Given the description of an element on the screen output the (x, y) to click on. 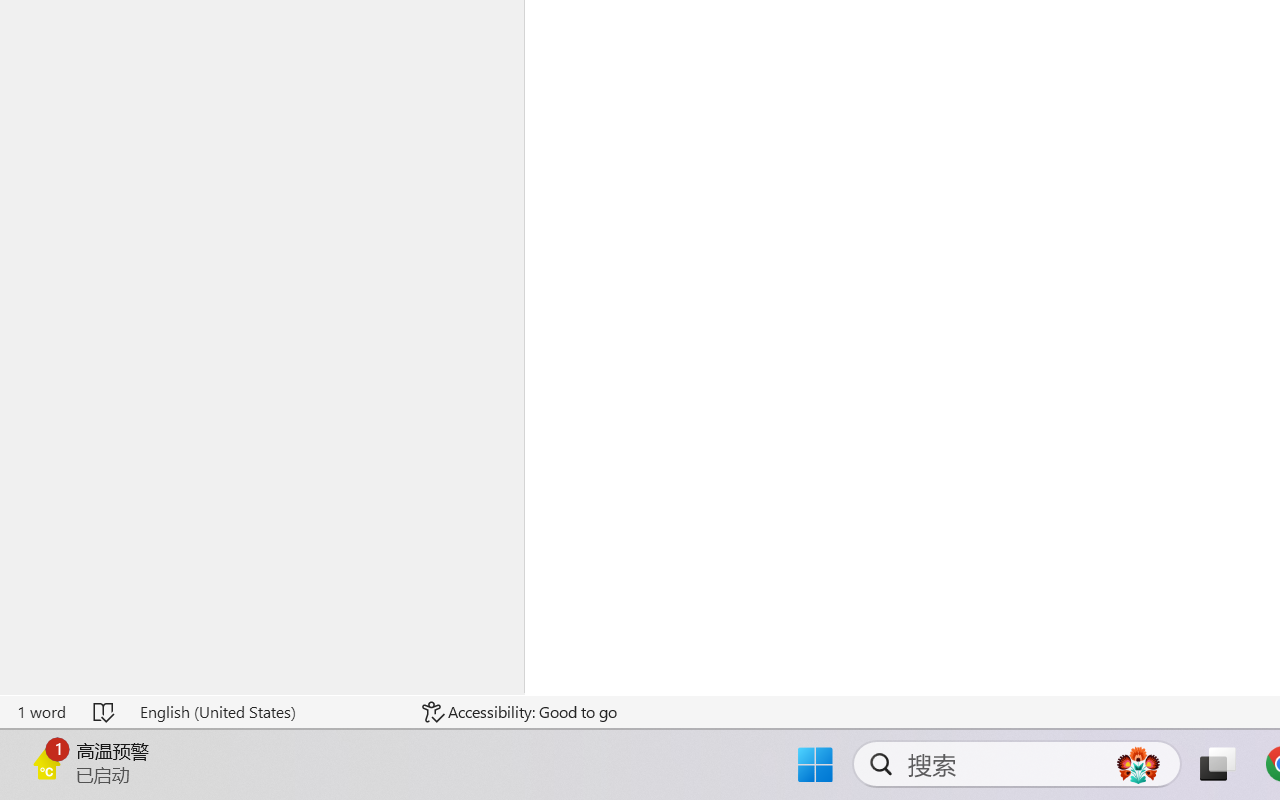
AutomationID: BadgeAnchorLargeTicker (46, 762)
Spelling and Grammar Check No Errors (105, 712)
Word Count 1 word (41, 712)
Accessibility Checker Accessibility: Good to go (519, 712)
Language English (United States) (267, 712)
